Given the description of an element on the screen output the (x, y) to click on. 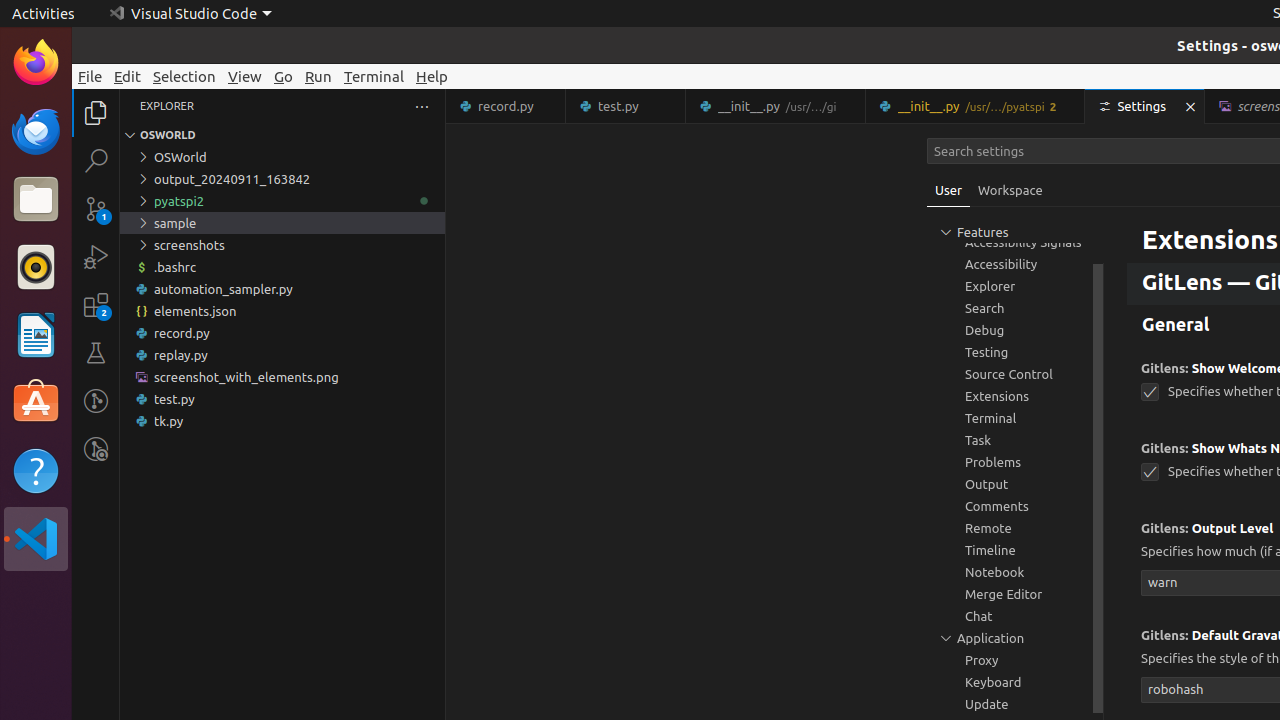
replay.py Element type: tree-item (282, 355)
gitlens.showWelcomeOnInstall Element type: check-box (1150, 392)
Terminal Element type: push-button (374, 76)
Merge Editor, group Element type: tree-item (1015, 594)
pyatspi2 Element type: tree-item (282, 201)
